Given the description of an element on the screen output the (x, y) to click on. 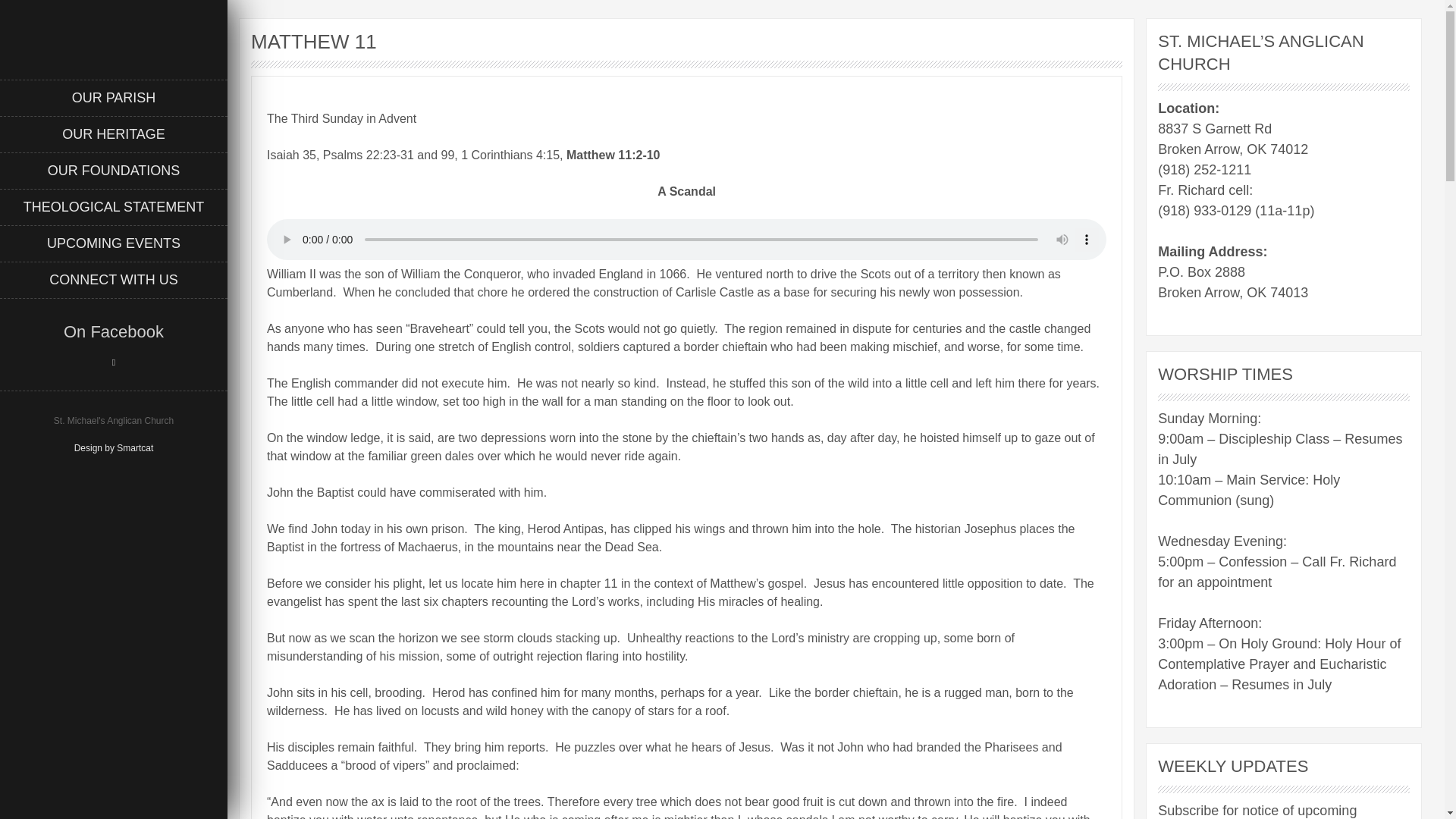
THEOLOGICAL STATEMENT (113, 207)
OUR HERITAGE (113, 134)
OUR PARISH (113, 97)
Search (29, 11)
CONNECT WITH US (113, 279)
Design by Smartcat (114, 448)
OUR FOUNDATIONS (113, 170)
UPCOMING EVENTS (113, 243)
